Given the description of an element on the screen output the (x, y) to click on. 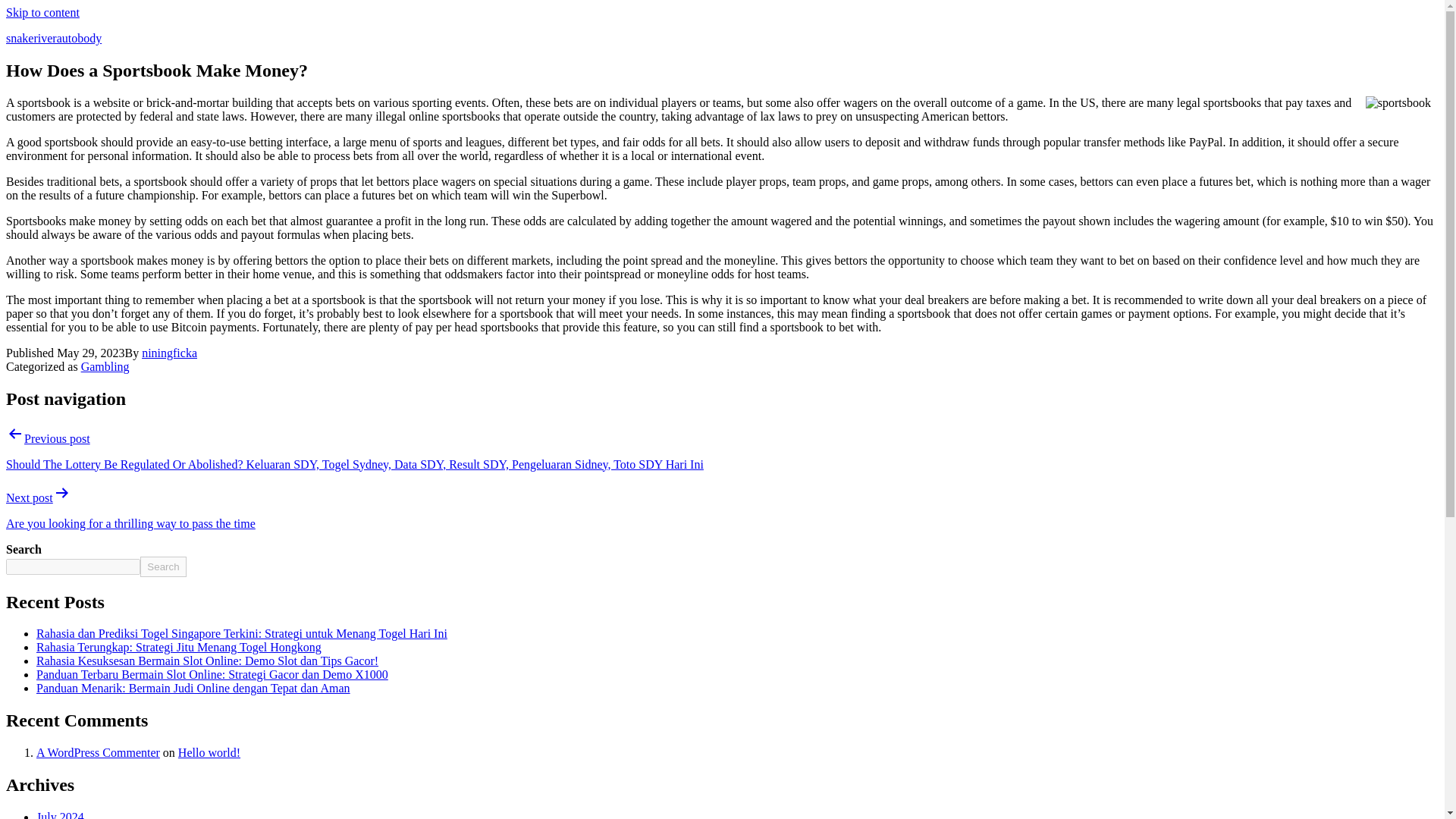
Gambling (105, 366)
Skip to content (42, 11)
Search (162, 566)
Hello world! (208, 752)
July 2024 (60, 814)
Rahasia Terungkap: Strategi Jitu Menang Togel Hongkong (178, 646)
snakeriverautobody (53, 38)
Panduan Menarik: Bermain Judi Online dengan Tepat dan Aman (193, 687)
niningficka (168, 352)
A WordPress Commenter (98, 752)
